Given the description of an element on the screen output the (x, y) to click on. 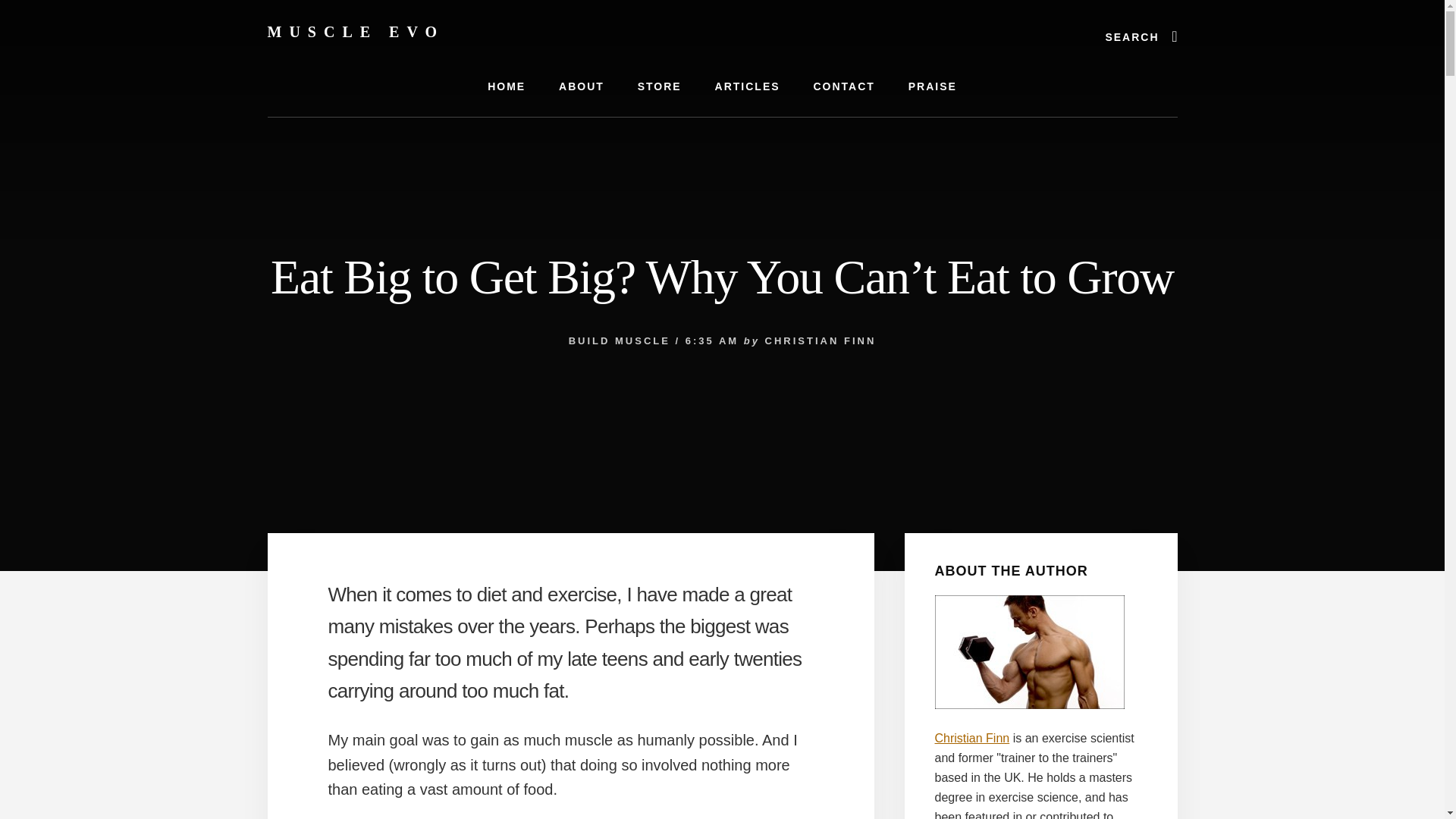
ABOUT (581, 86)
MUSCLE EVO (355, 31)
Christian Finn (971, 738)
CHRISTIAN FINN (820, 340)
CONTACT (843, 86)
PRAISE (932, 86)
BUILD MUSCLE (619, 340)
HOME (505, 86)
STORE (660, 86)
ARTICLES (747, 86)
